Given the description of an element on the screen output the (x, y) to click on. 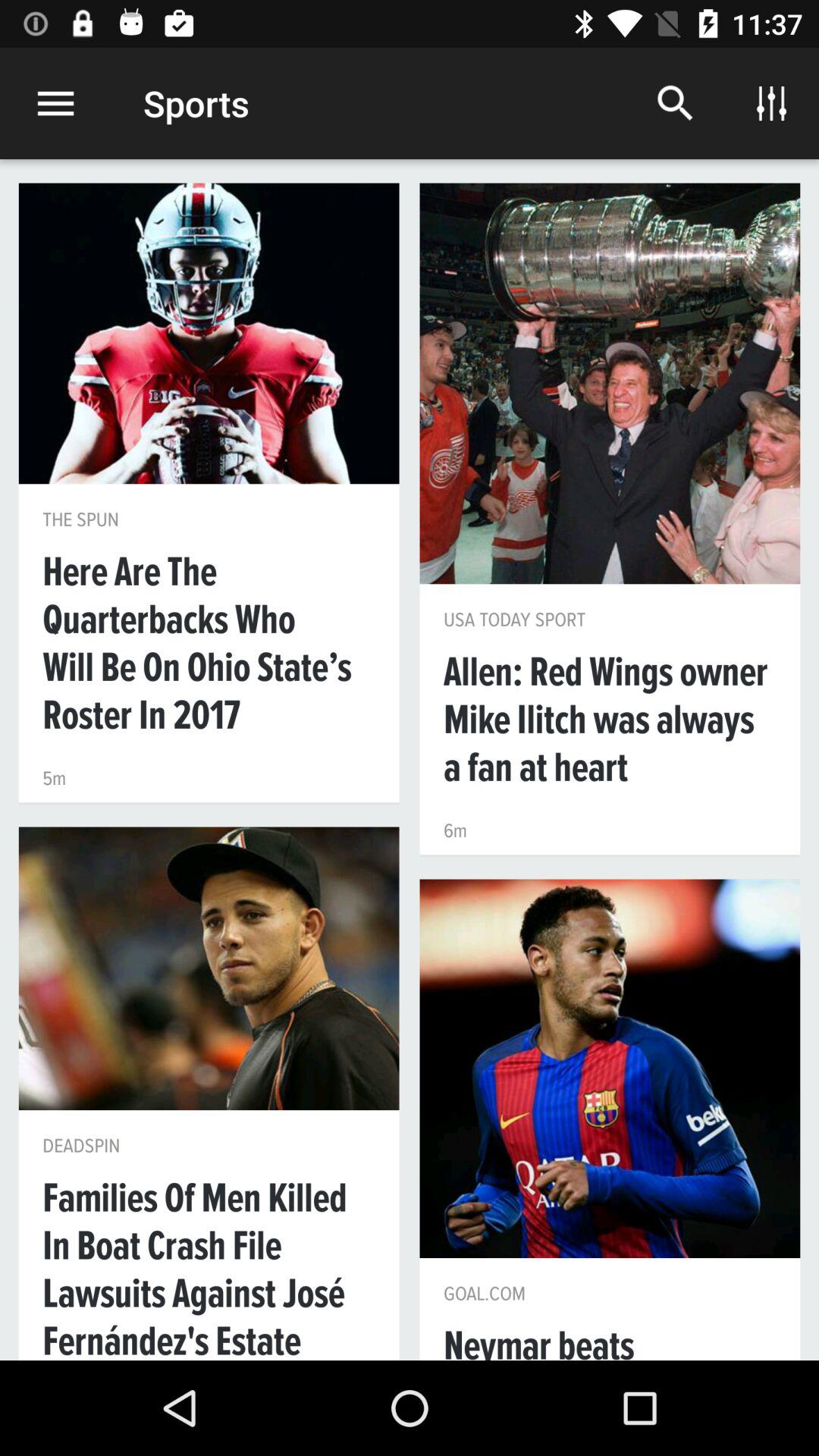
select icon to the right of sports (675, 103)
